Given the description of an element on the screen output the (x, y) to click on. 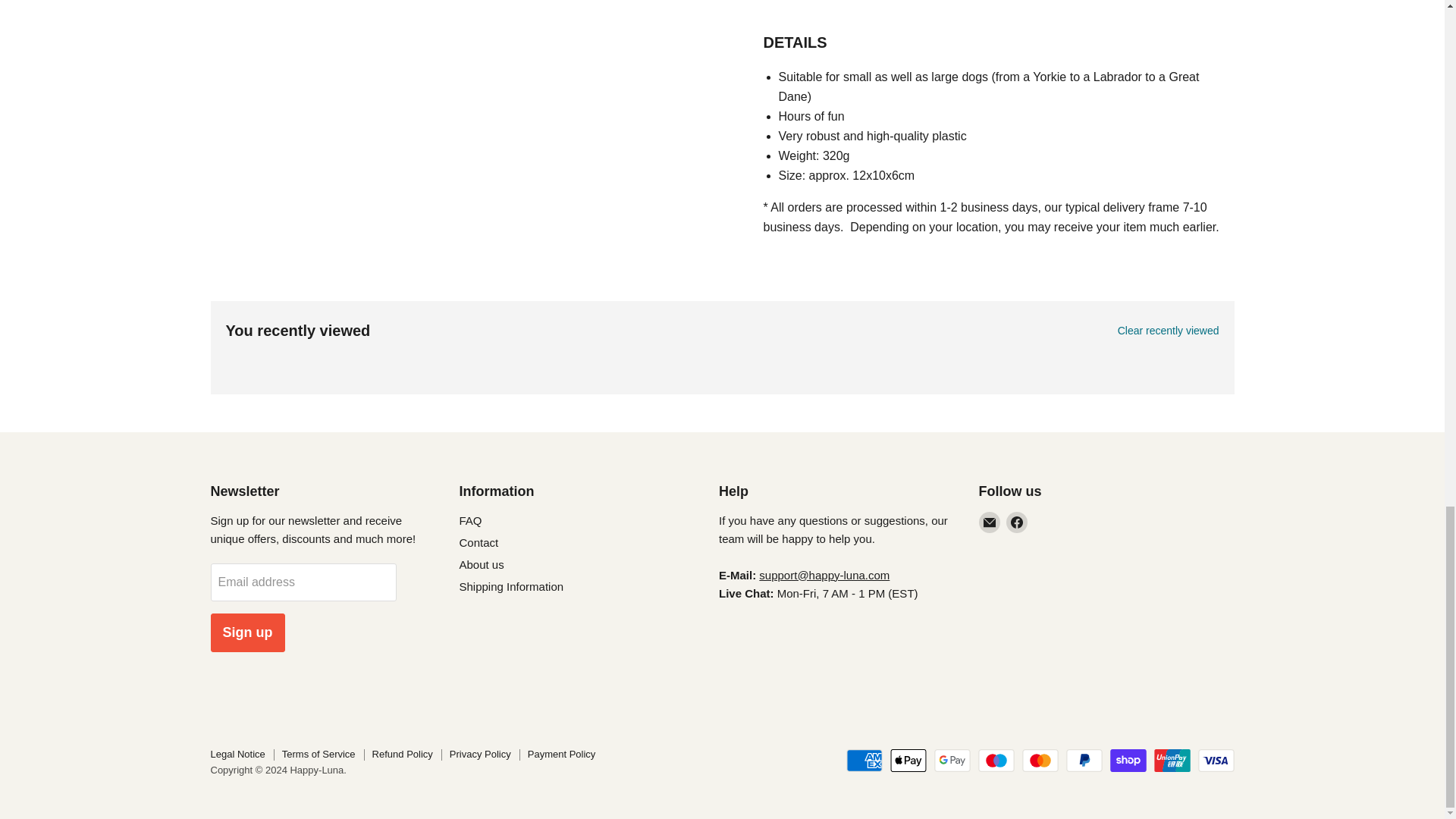
Union Pay (1172, 760)
Shop Pay (1128, 760)
Email (988, 522)
Facebook (1016, 522)
Mastercard (1040, 760)
Apple Pay (907, 760)
Maestro (996, 760)
Visa (1216, 760)
PayPal (1083, 760)
American Express (863, 760)
